Given the description of an element on the screen output the (x, y) to click on. 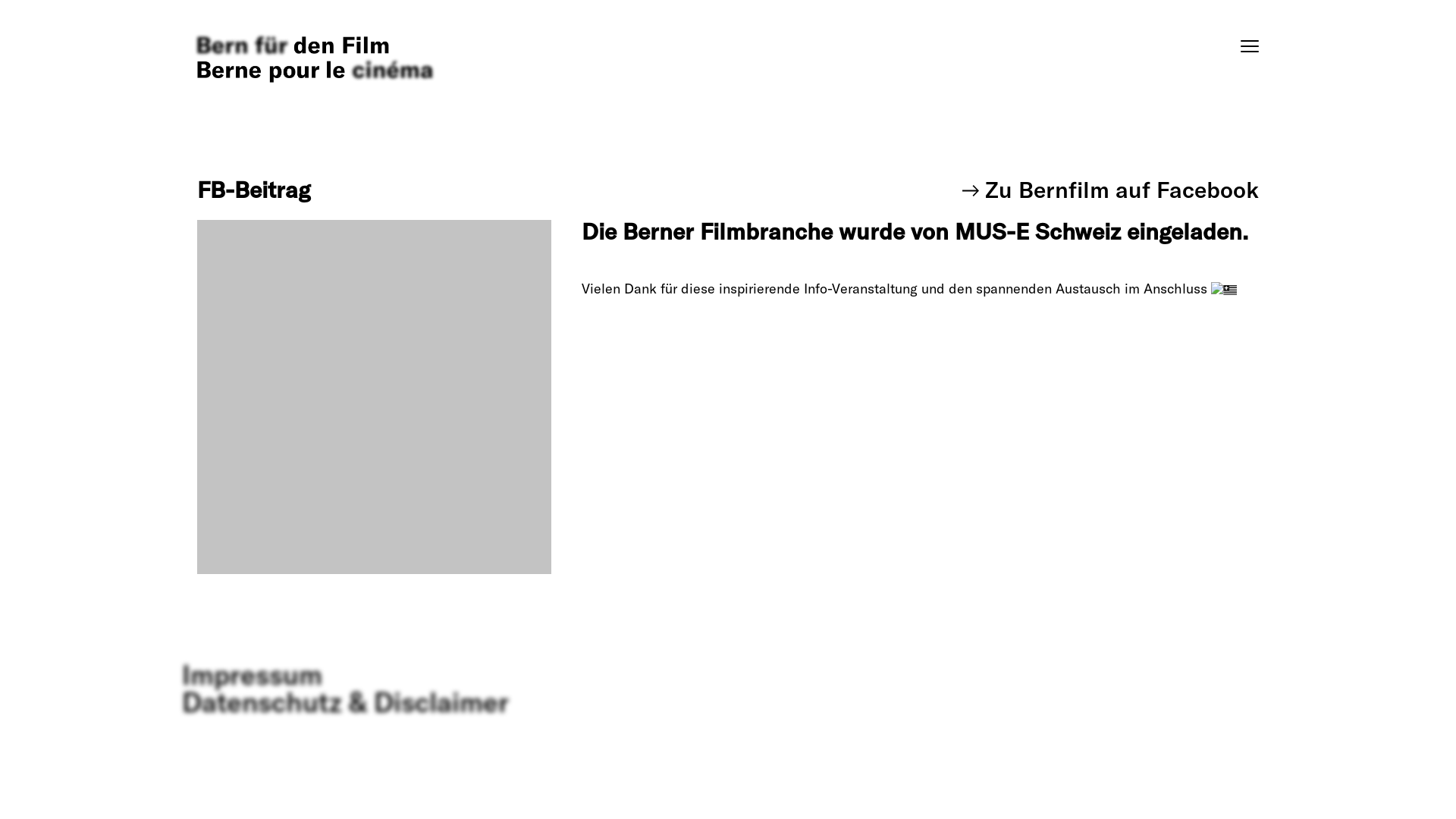
Impressum Element type: text (252, 674)
Zu Bernfilm auf Facebook Element type: text (1110, 189)
Datenschutz & Disclaimer Element type: text (345, 701)
